Given the description of an element on the screen output the (x, y) to click on. 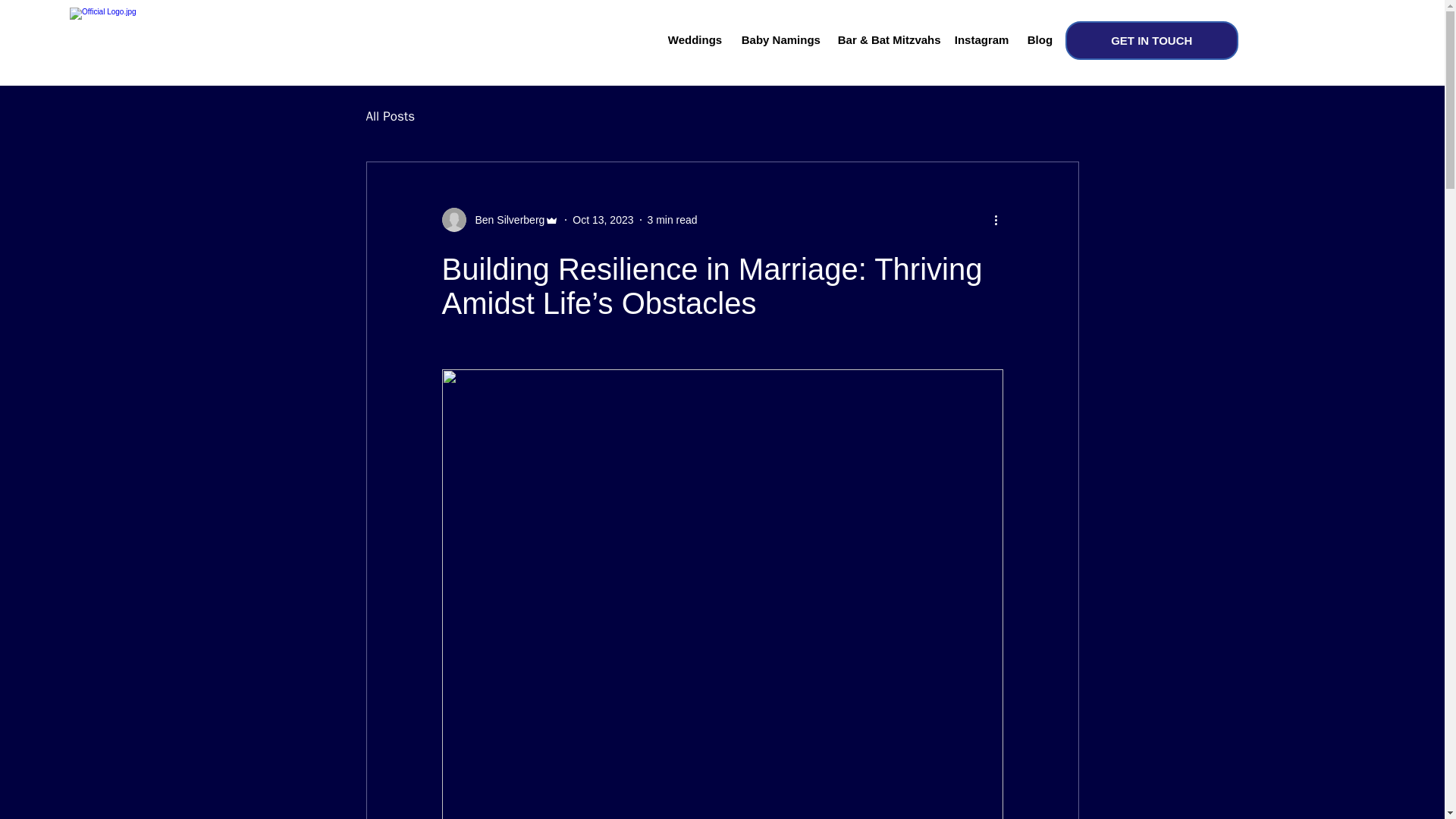
Oct 13, 2023 (602, 219)
Blog (1039, 40)
Ben Silverberg (504, 220)
Ben Silverberg (500, 219)
GET IN TOUCH (1152, 40)
All Posts (389, 116)
Weddings (693, 40)
3 min read (672, 219)
Baby Namings (778, 40)
Instagram (979, 40)
